Given the description of an element on the screen output the (x, y) to click on. 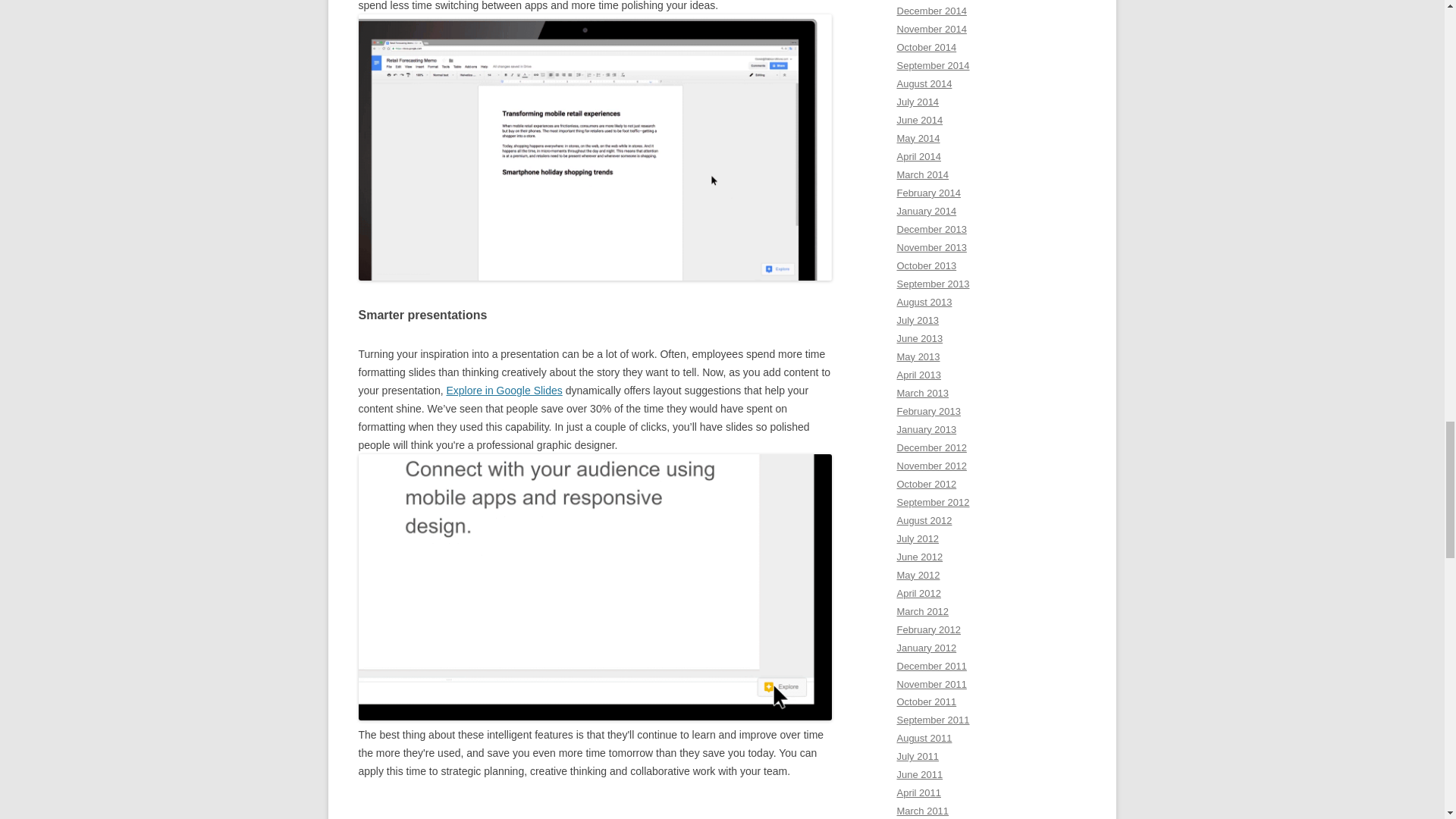
Explore in Google Slides (503, 390)
